Given the description of an element on the screen output the (x, y) to click on. 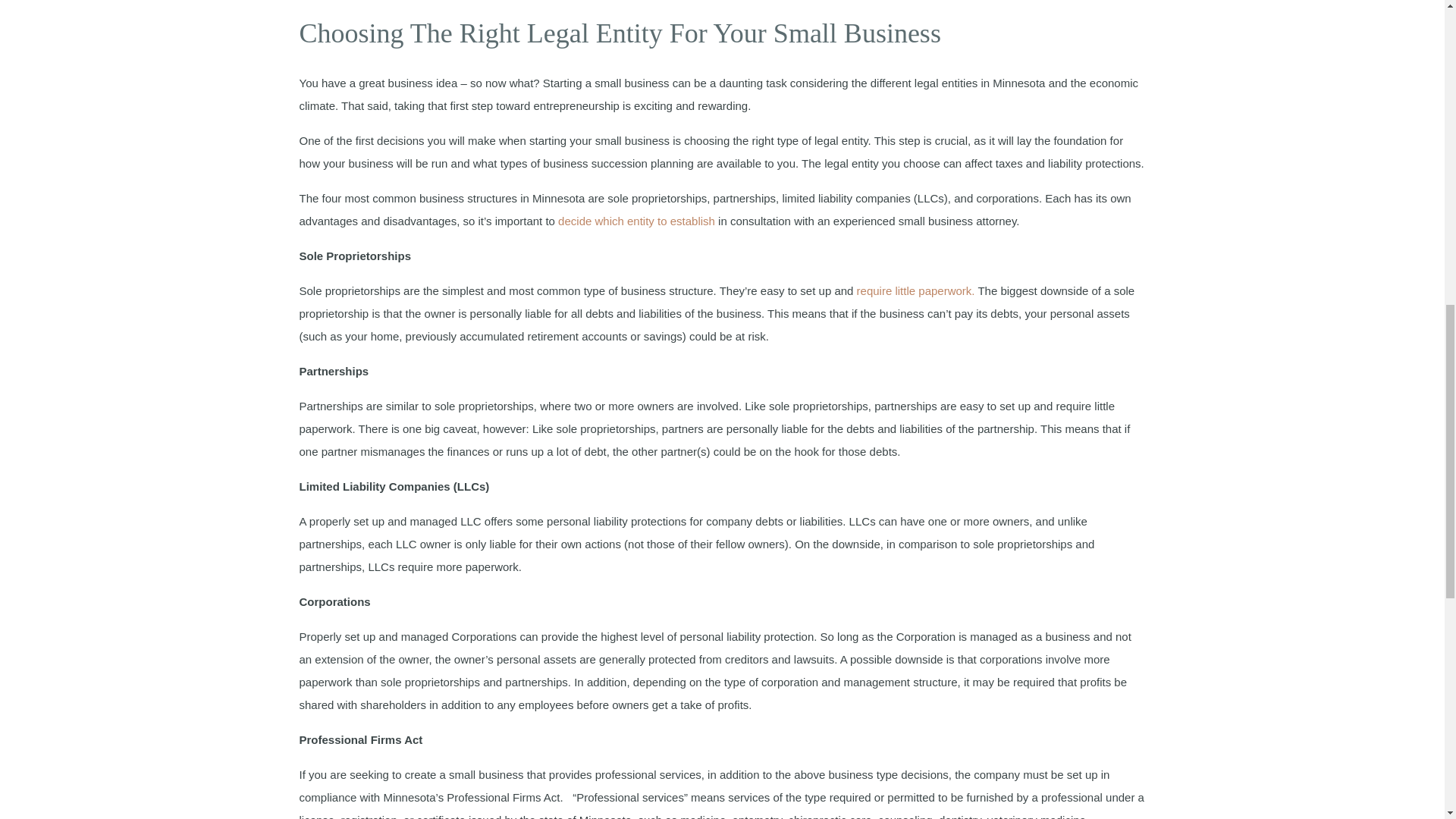
decide which entity to establish (637, 220)
require little paperwork. (917, 290)
